Given the description of an element on the screen output the (x, y) to click on. 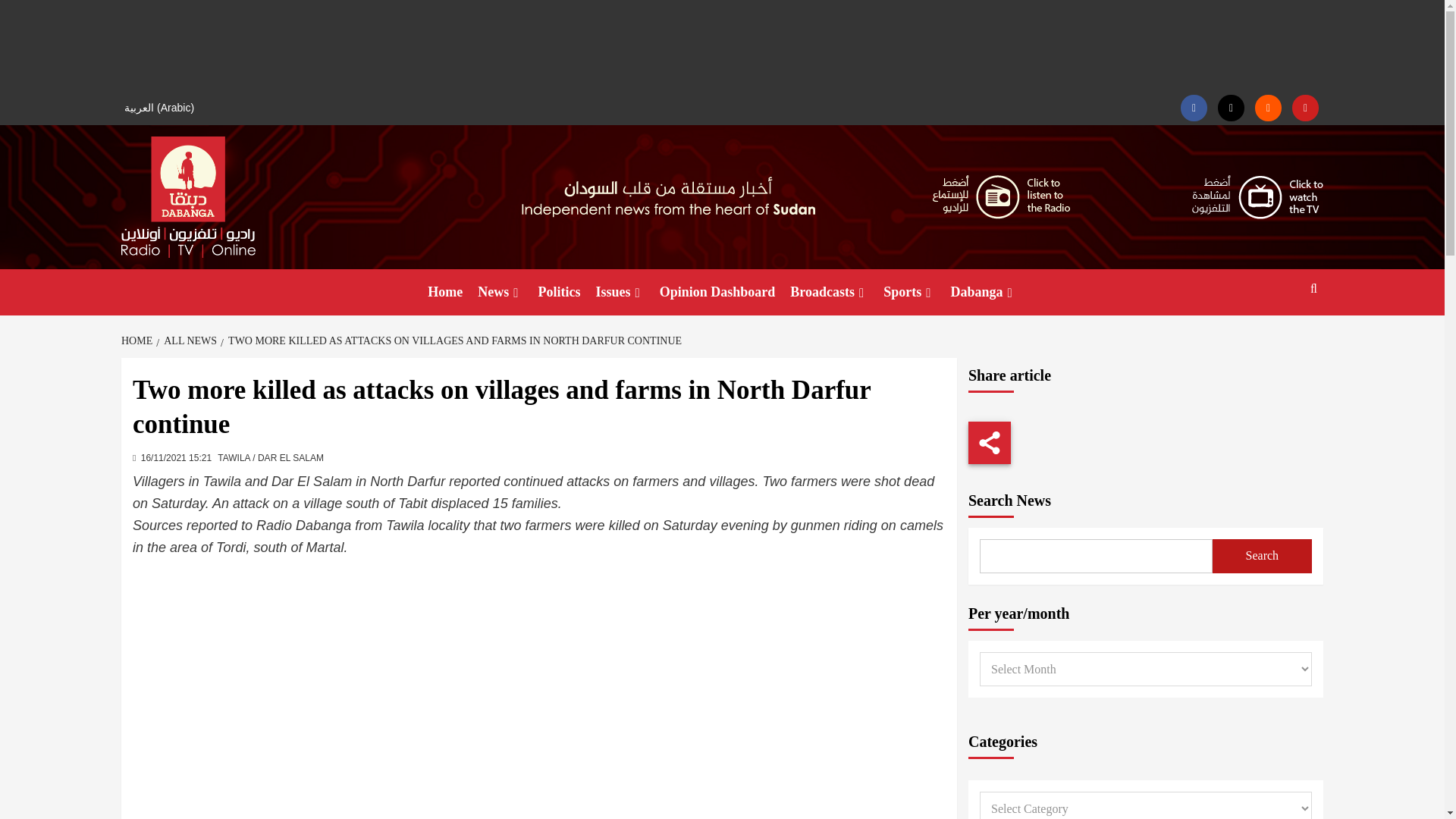
Sports (909, 292)
Facebook (1193, 108)
Twitter (1230, 108)
Broadcasts (829, 292)
Home (445, 292)
Politics (559, 292)
News (499, 292)
Youtube (1305, 108)
Opinion Dashboard (717, 292)
Advertisement (722, 45)
